Given the description of an element on the screen output the (x, y) to click on. 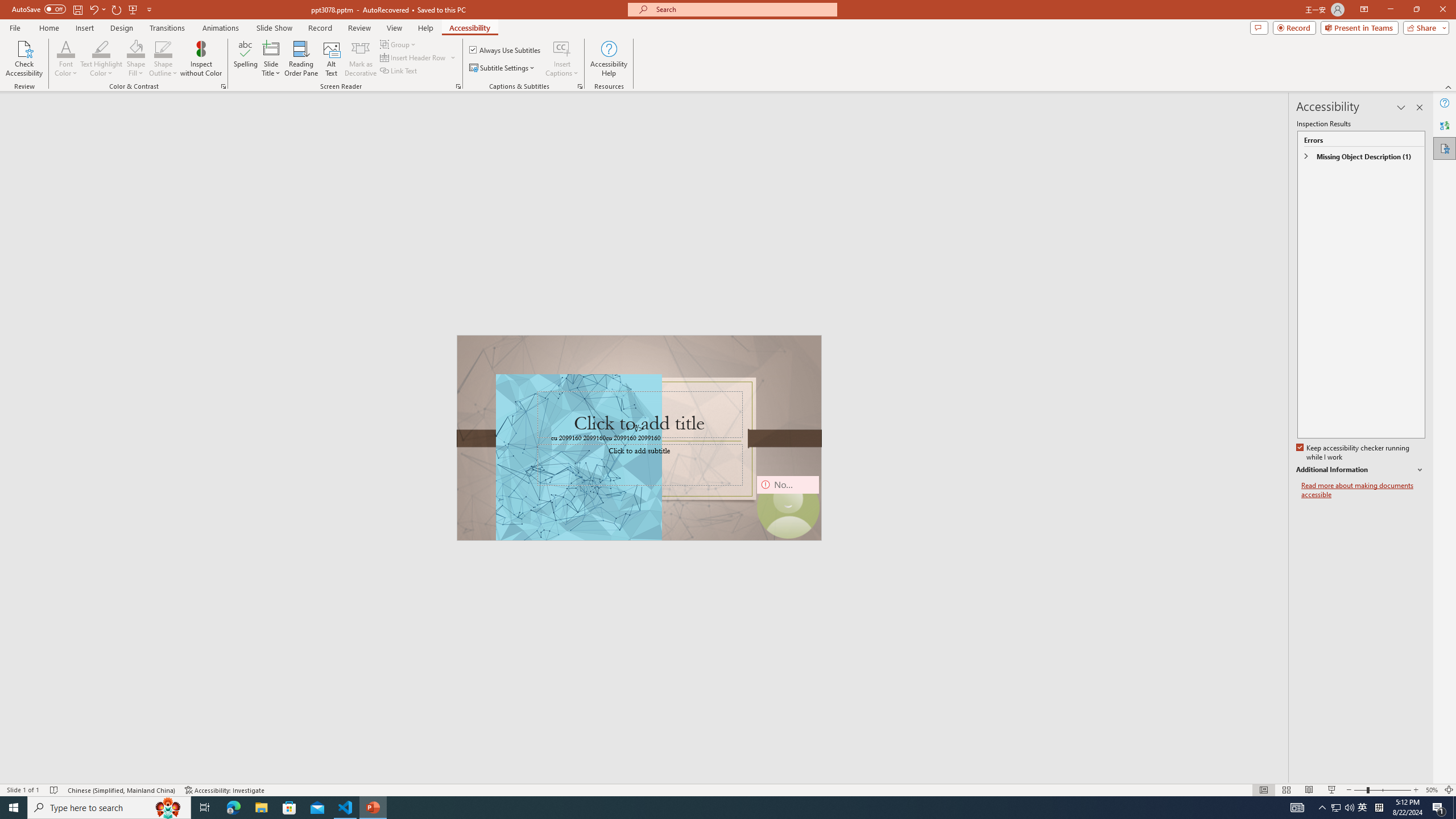
Subtitle TextBox (639, 464)
An abstract genetic concept (639, 437)
Slide Title (271, 48)
Additional Information (1360, 469)
Link Text (399, 69)
Subtitle Settings (502, 67)
